Given the description of an element on the screen output the (x, y) to click on. 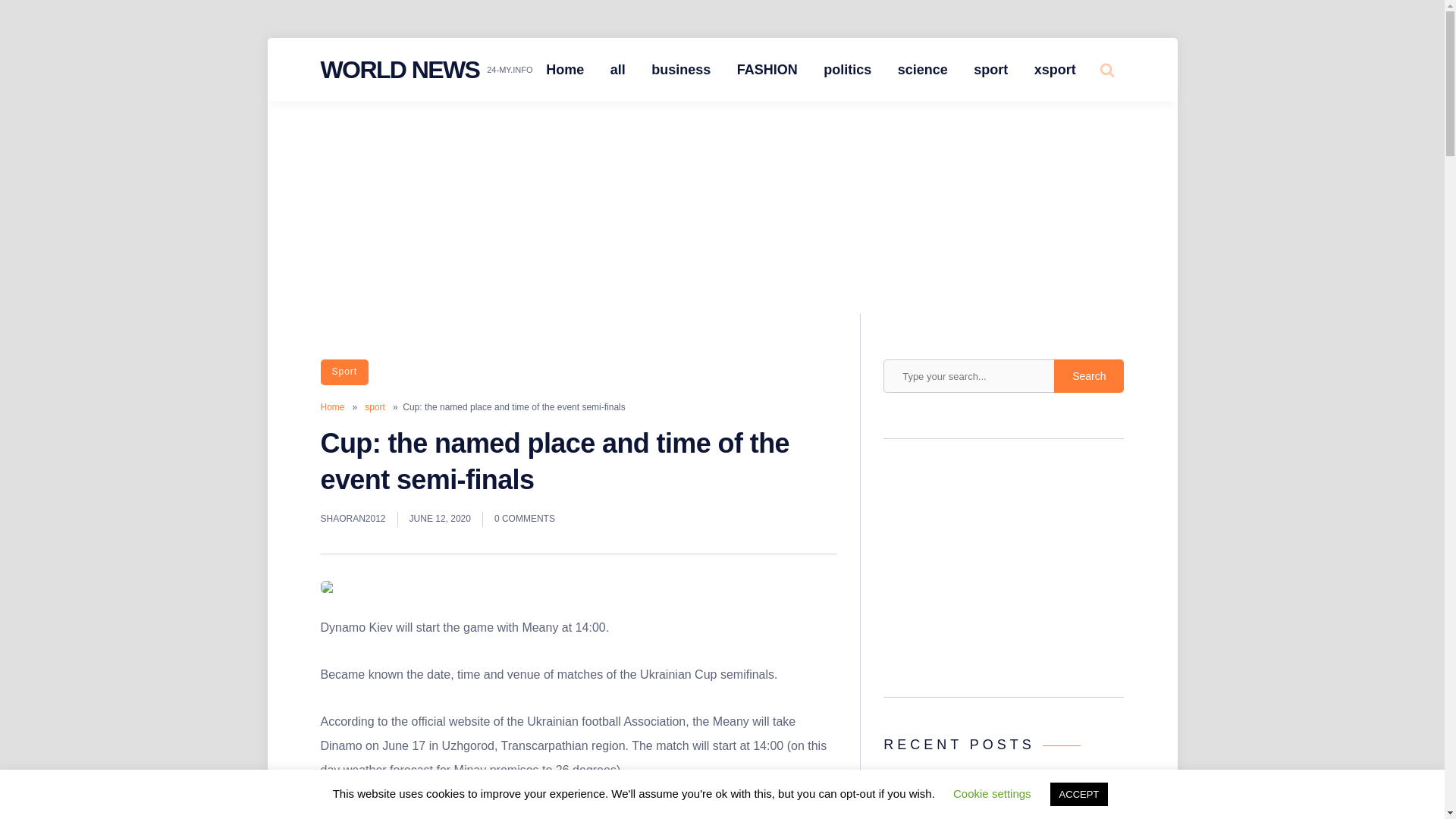
Search (1089, 376)
sport (990, 69)
sport (375, 407)
Sport (344, 371)
WORLD NEWS (399, 69)
science (922, 69)
Search (1074, 127)
Home (331, 407)
xsport (1055, 69)
FASHION (767, 69)
politics (847, 69)
Advertisement (1003, 571)
SHAORAN2012 (352, 519)
business (681, 69)
